Given the description of an element on the screen output the (x, y) to click on. 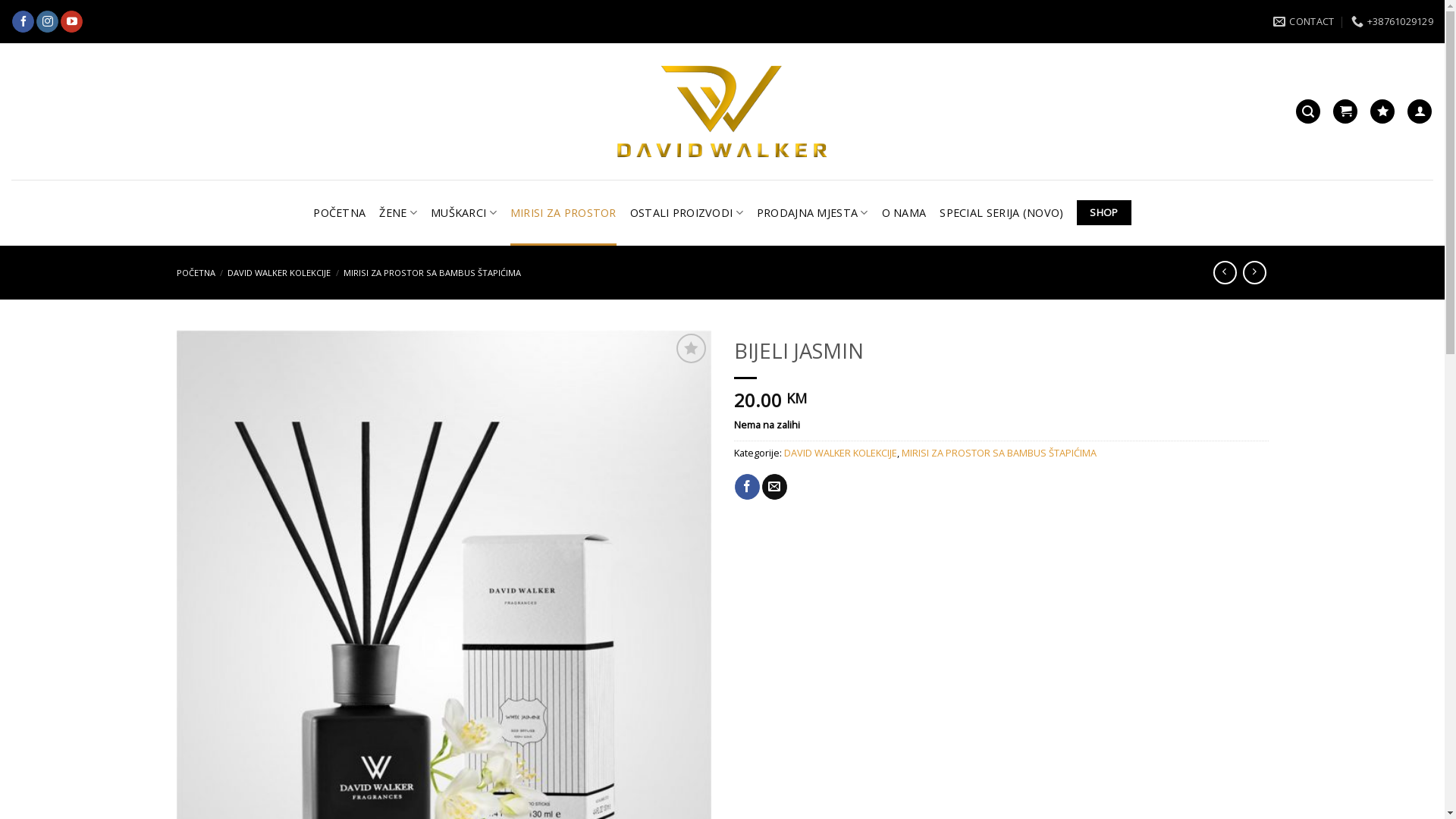
SHOP Element type: text (1103, 212)
DAVID WALKER KOLEKCIJE Element type: text (278, 272)
MIRISI ZA PROSTOR Element type: text (563, 212)
CONTACT Element type: text (1303, 20)
Pratite nas na Facebook-u Element type: hover (23, 21)
OSTALI PROIZVODI Element type: text (686, 212)
PRODAJNA MJESTA Element type: text (812, 212)
SPECIAL SERIJA (NOVO) Element type: text (1001, 212)
Email to a Friend Element type: hover (774, 486)
O NAMA Element type: text (903, 212)
Pratite nas na YouTube Element type: hover (71, 21)
DAVID WALKER KOLEKCIJE Element type: text (840, 452)
+38761029129 Element type: text (1392, 20)
Pratite nas na Instagramu Element type: hover (47, 21)
Share on Facebook Element type: hover (746, 486)
